Given the description of an element on the screen output the (x, y) to click on. 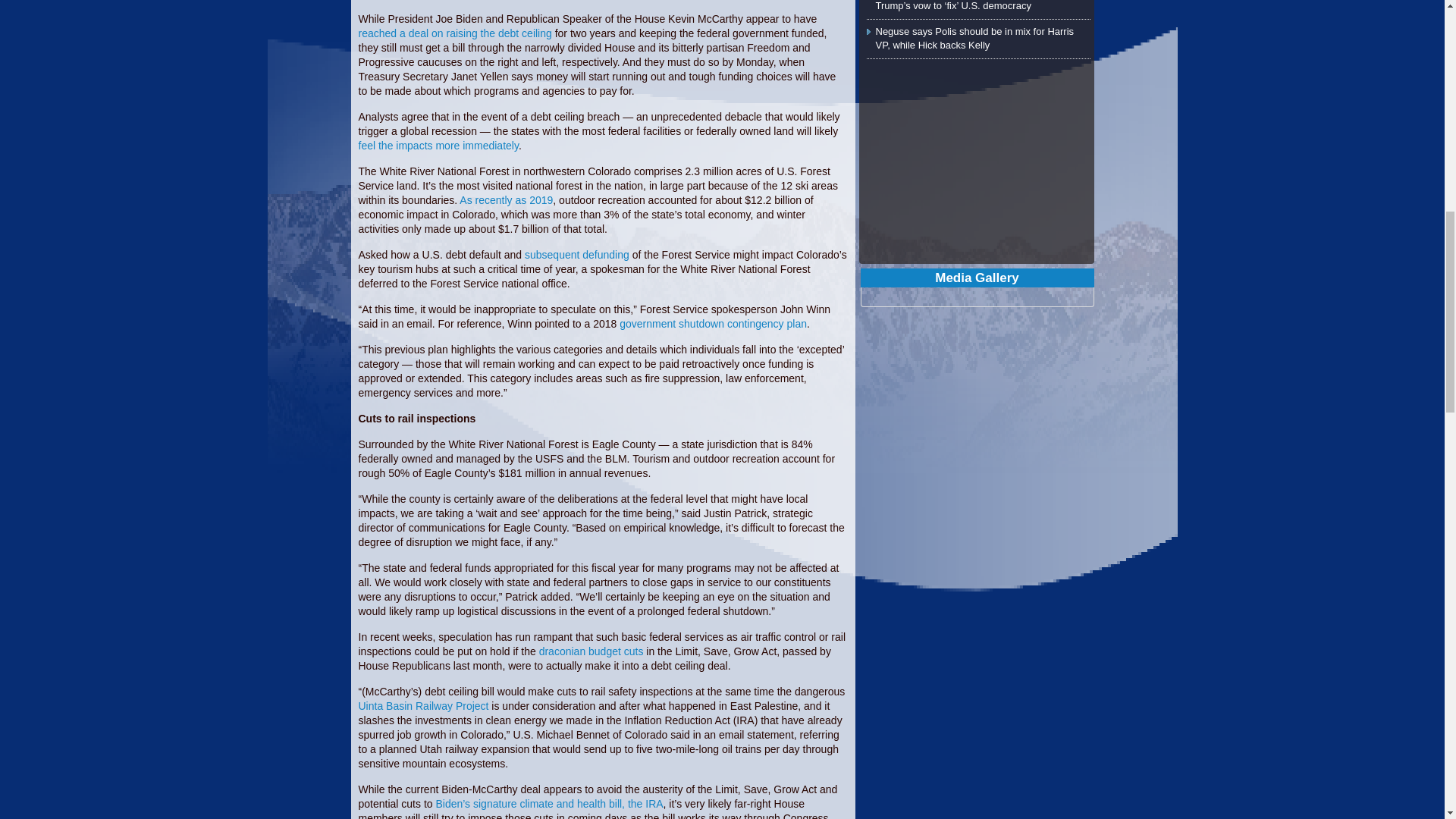
draconian budget cuts (590, 651)
reached a deal on raising the debt ceiling (454, 33)
government shutdown contingency plan (713, 323)
As recently as 2019 (506, 200)
Uinta Basin Railway Project (422, 705)
subsequent defunding (576, 254)
feel the impacts more immediately (438, 145)
